Given the description of an element on the screen output the (x, y) to click on. 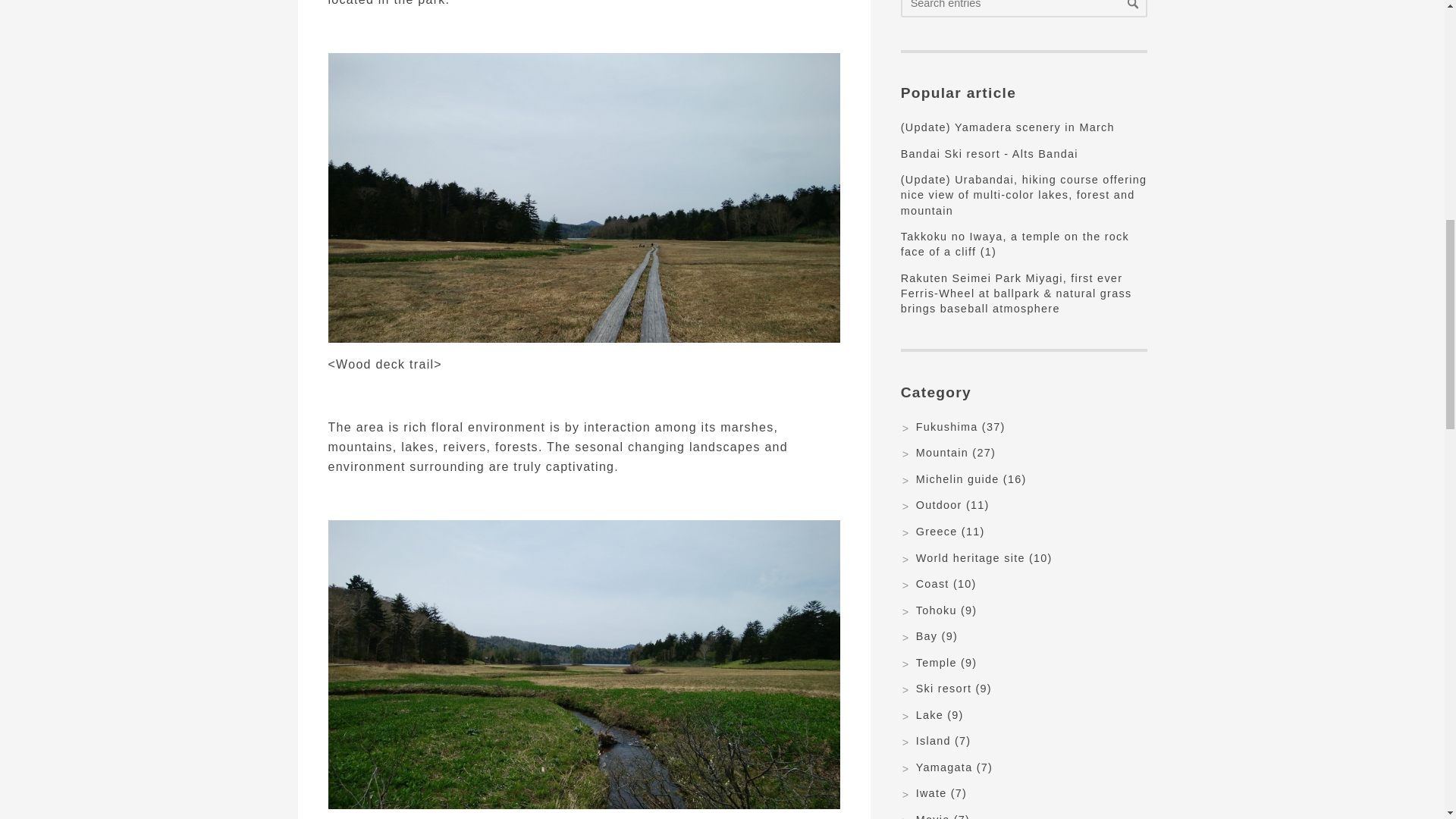
Bandai Ski resort - Alts Bandai (989, 153)
Search (1132, 6)
Search (1132, 6)
Search (1132, 6)
